Given the description of an element on the screen output the (x, y) to click on. 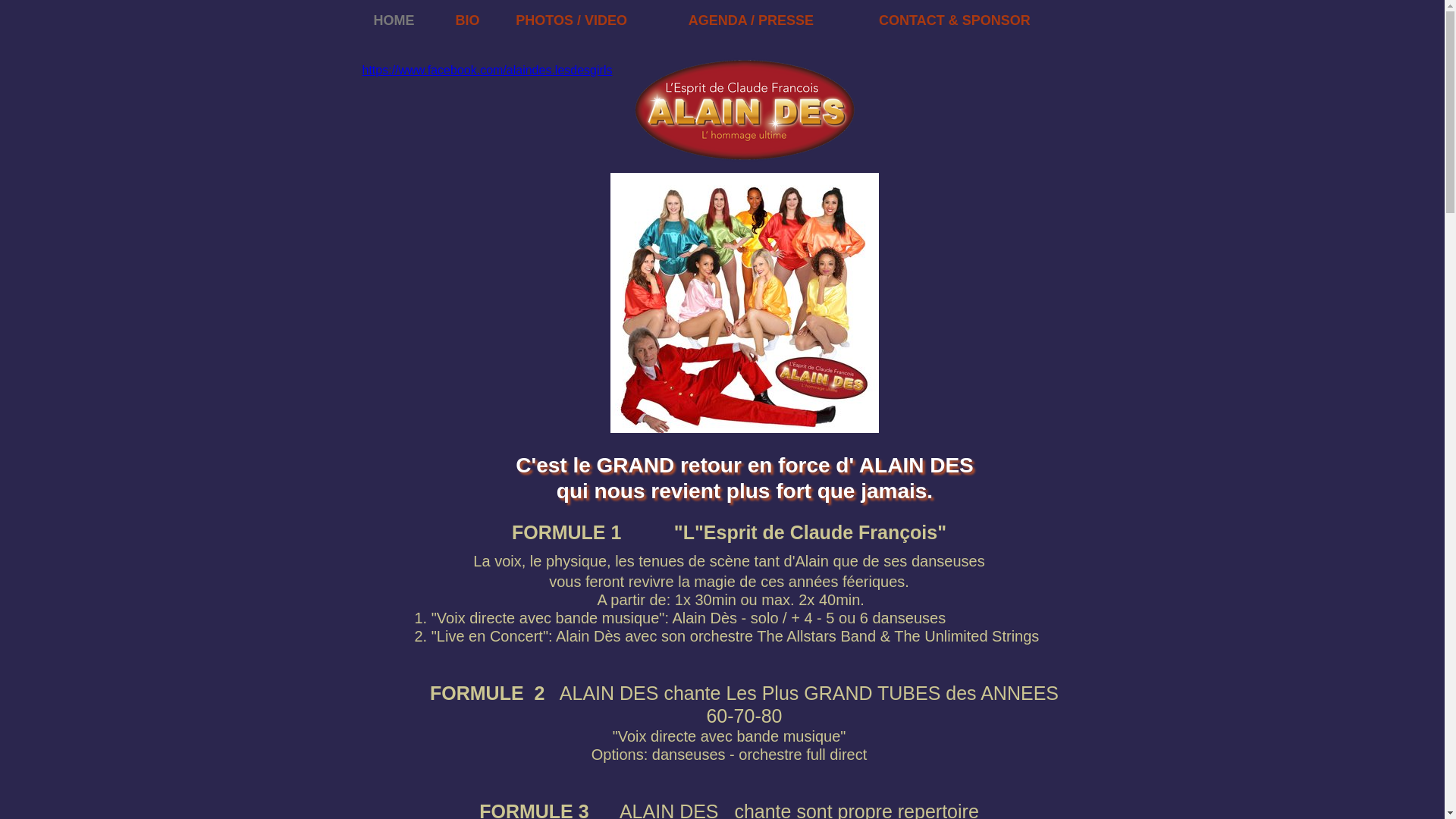
CONTACT & SPONSOR Element type: text (979, 20)
PHOTOS / VIDEO Element type: text (590, 20)
BIO Element type: text (474, 20)
https://www.facebook.com/alaindes.lesdesgirls Element type: text (487, 69)
HOME Element type: text (403, 20)
AGENDA / PRESSE Element type: text (772, 20)
